Given the description of an element on the screen output the (x, y) to click on. 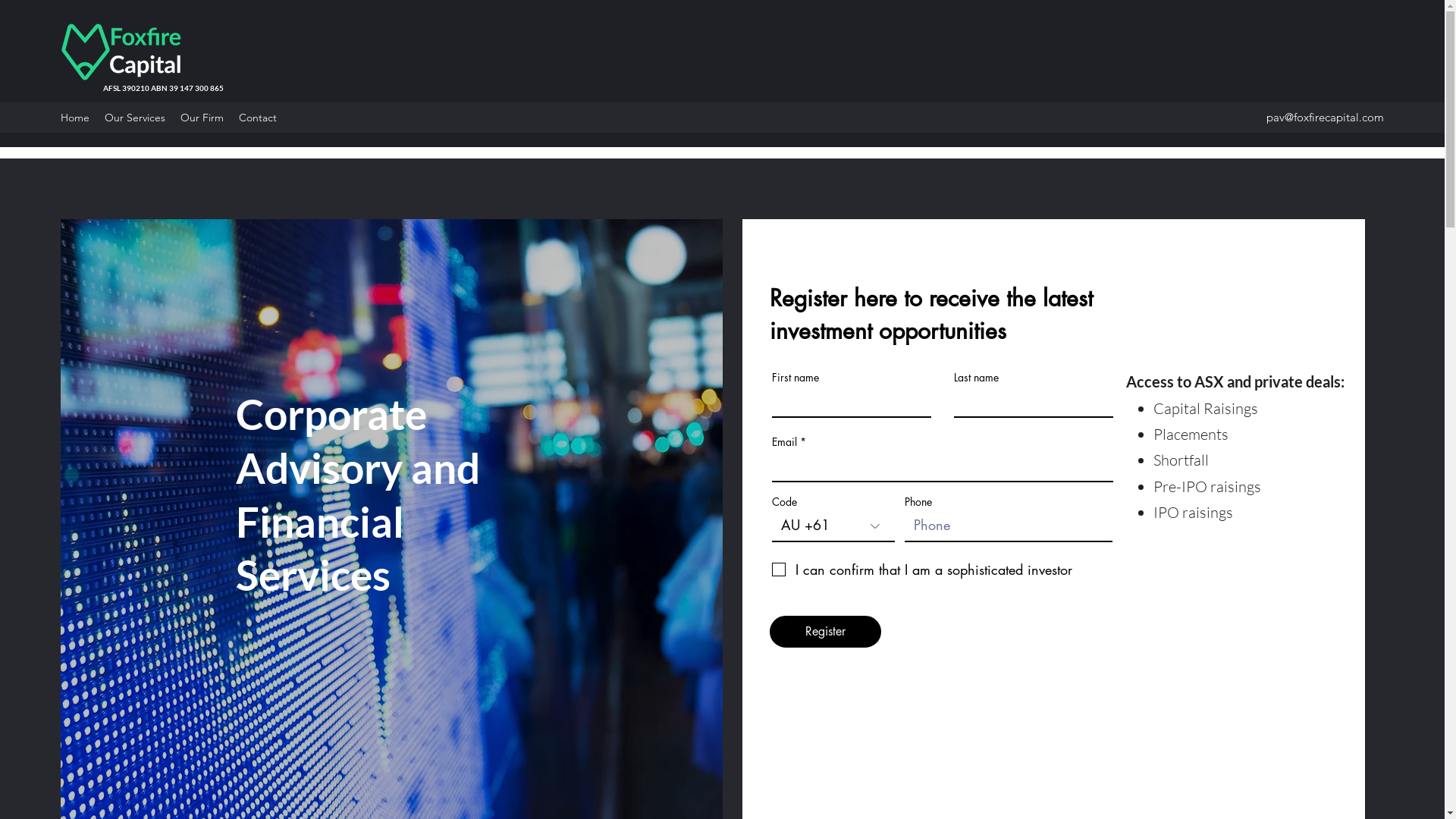
Home Element type: text (75, 117)
Our Services Element type: text (134, 117)
Register Element type: text (825, 631)
pav@foxfirecapital.com Element type: text (1324, 116)
Our Firm Element type: text (201, 117)
Contact Element type: text (257, 117)
